Given the description of an element on the screen output the (x, y) to click on. 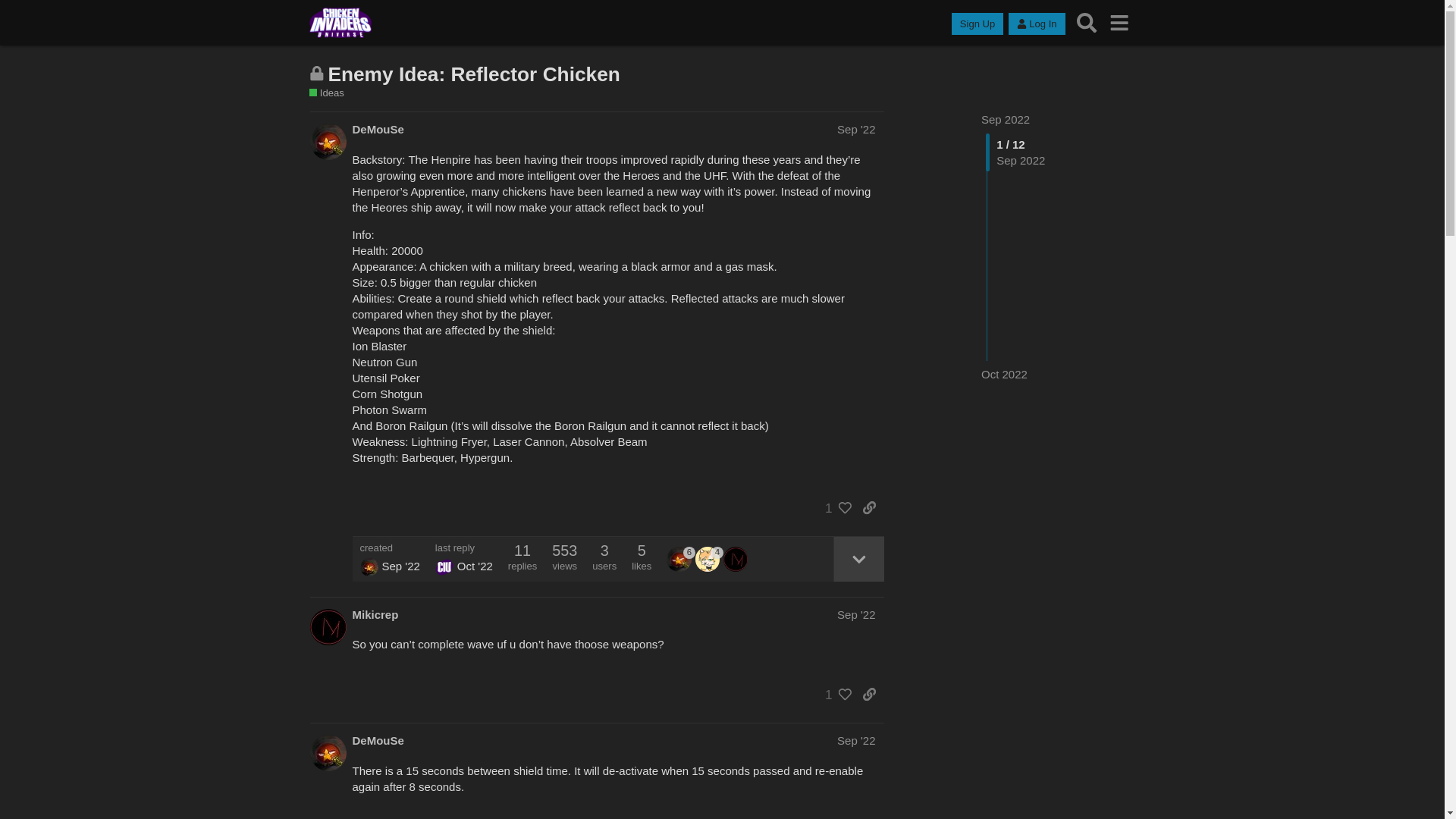
1 (833, 507)
1 person liked this post (833, 507)
menu (1119, 22)
DeMouSe (680, 558)
This topic is closed; it no longer accepts new replies (316, 73)
Oct 14, 2022 7:51 pm (1004, 373)
The Silence Star (368, 566)
Sep 30, 2022 12:15 pm (400, 565)
DeMouSe (377, 129)
Log In (1036, 24)
Search (1086, 22)
Enemy Idea: Reflector Chicken (473, 74)
Mikicrep (374, 614)
Oct 14, 2022 7:51 pm (475, 565)
1 (833, 694)
